Given the description of an element on the screen output the (x, y) to click on. 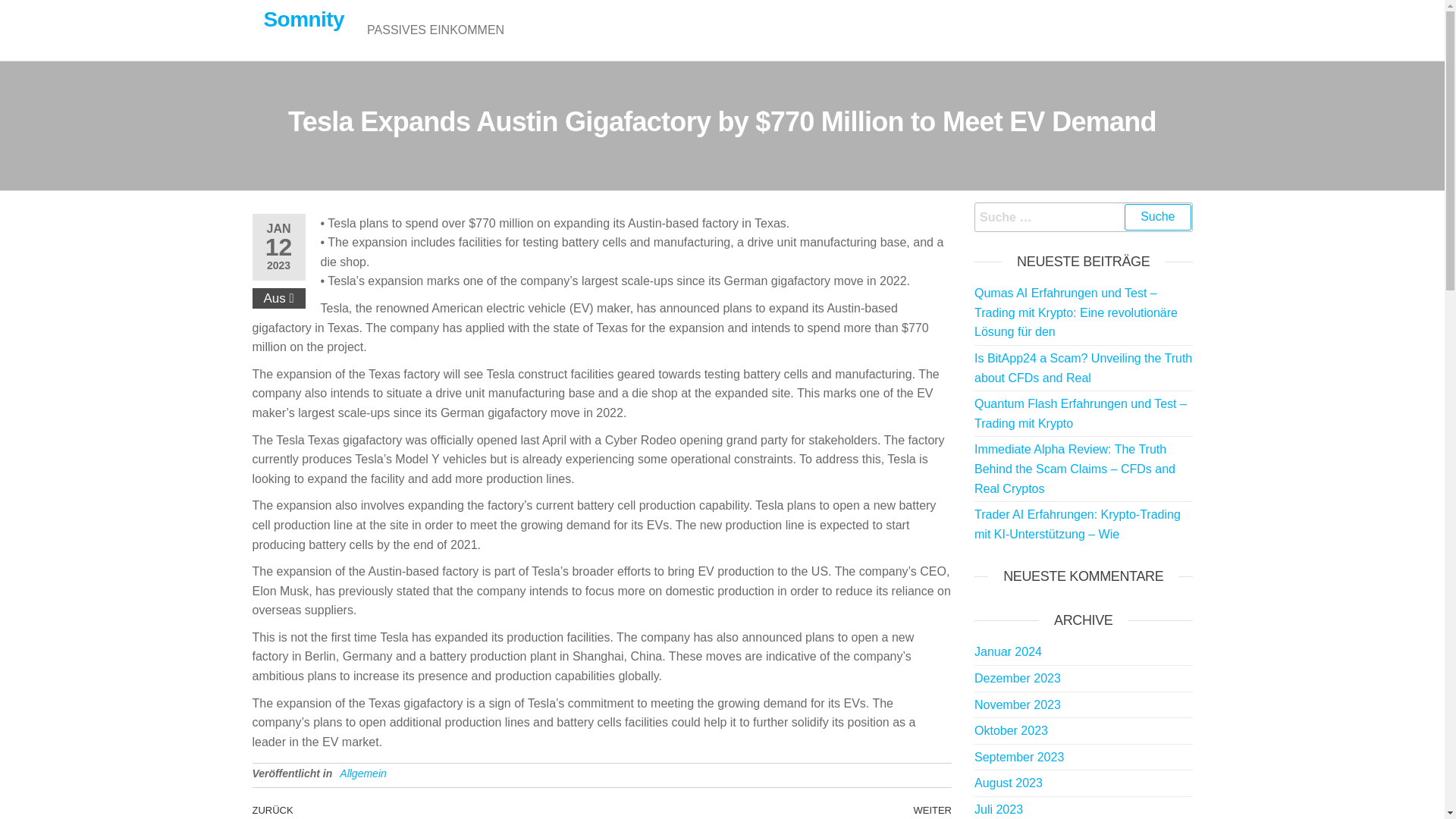
Somnity (304, 19)
November 2023 (1017, 703)
Oktober 2023 (1011, 730)
Suche (1157, 216)
August 2023 (1008, 782)
Juli 2023 (998, 809)
Allgemein (362, 773)
Dezember 2023 (1017, 677)
Passives Einkommen (435, 30)
September 2023 (1019, 757)
PASSIVES EINKOMMEN (435, 30)
Is BitApp24 a Scam? Unveiling the Truth about CFDs and Real (1083, 368)
Suche (1157, 216)
Januar 2024 (1008, 651)
Suche (1157, 216)
